Given the description of an element on the screen output the (x, y) to click on. 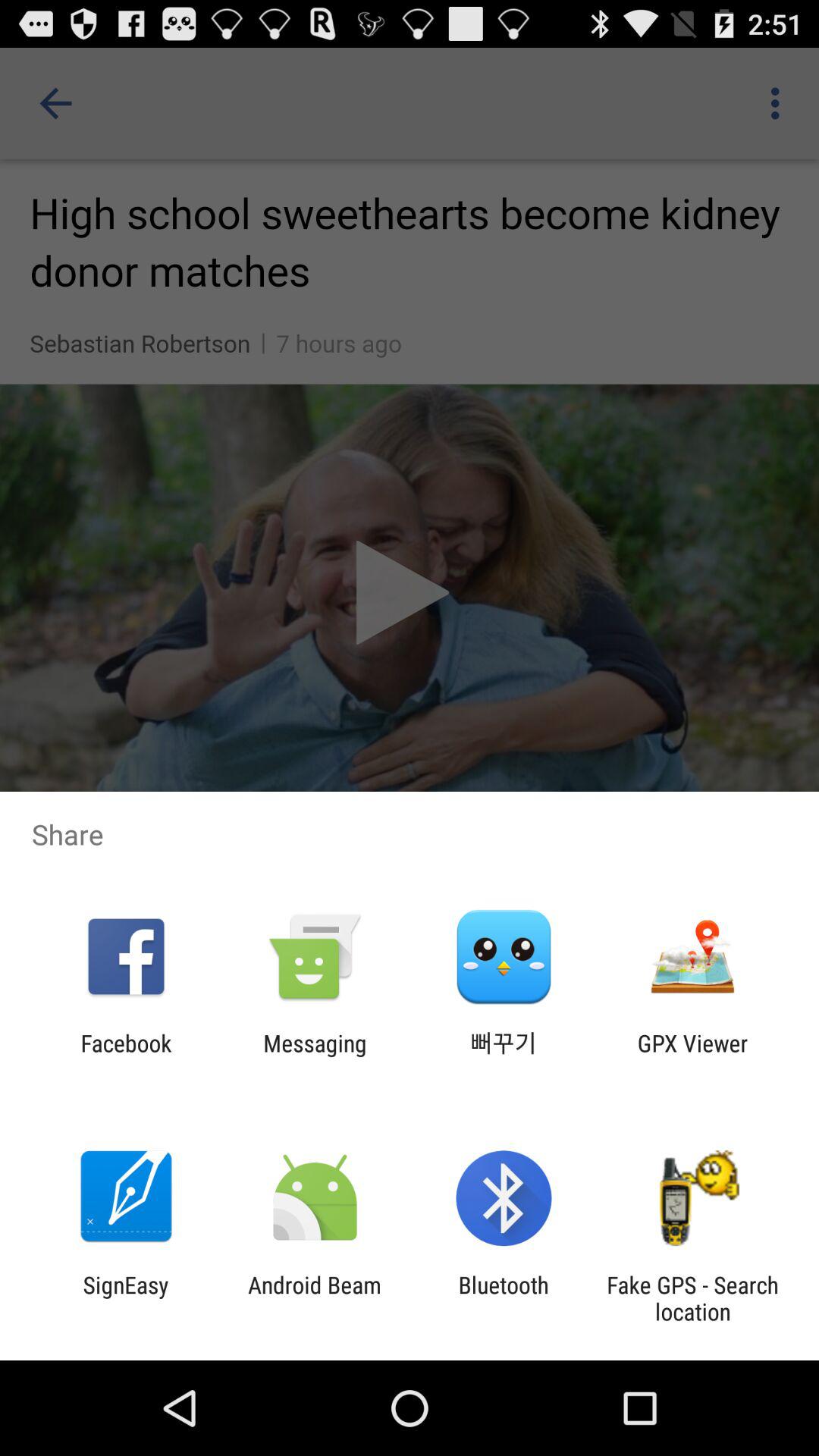
turn on item to the left of the bluetooth icon (314, 1298)
